Given the description of an element on the screen output the (x, y) to click on. 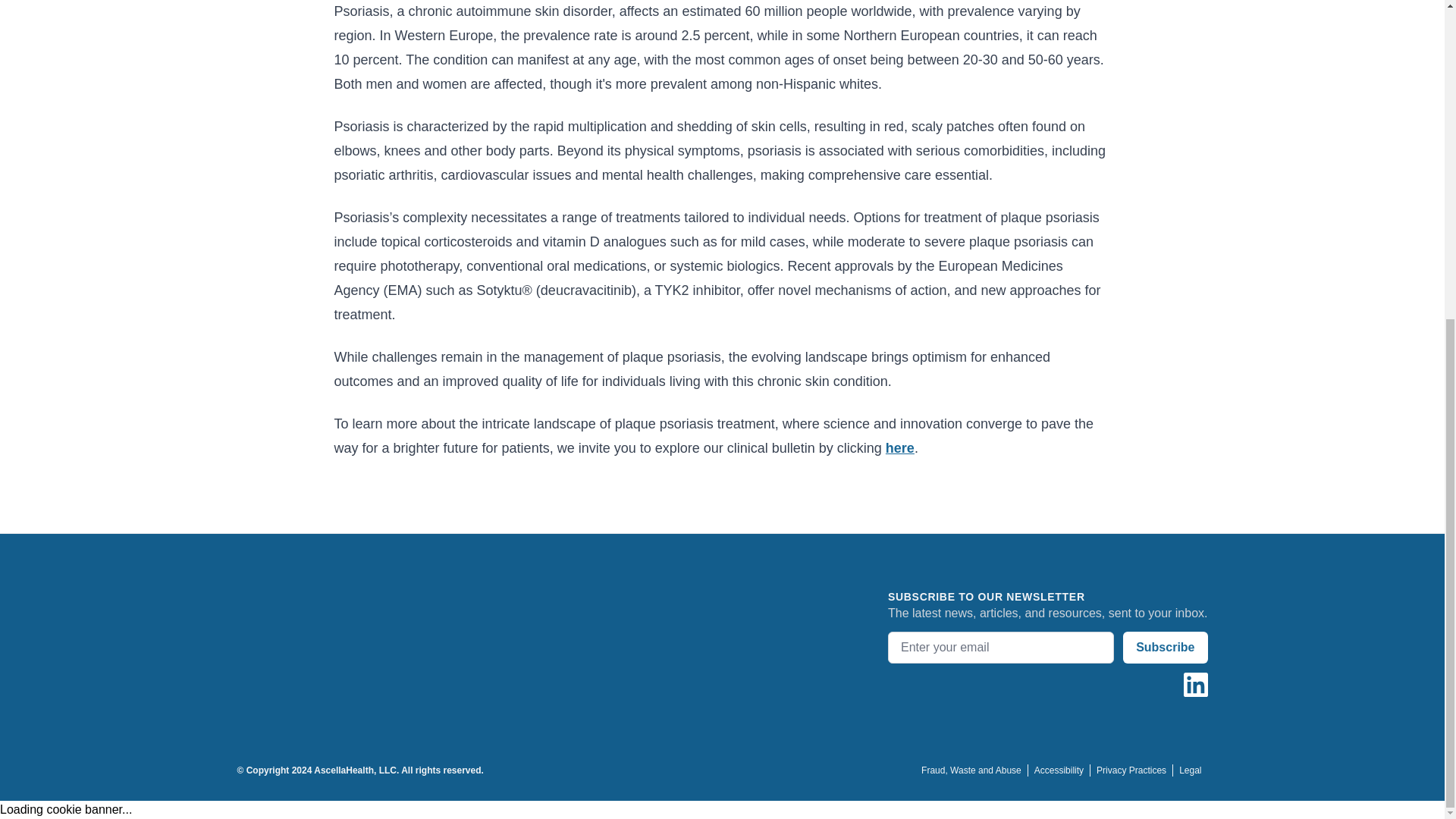
here (899, 447)
LinkedIn (1194, 684)
Legal (1189, 770)
Fraud, Waste and Abuse (971, 770)
Accessibility (1058, 770)
Subscribe (1164, 647)
Privacy Practices (1130, 770)
